Given the description of an element on the screen output the (x, y) to click on. 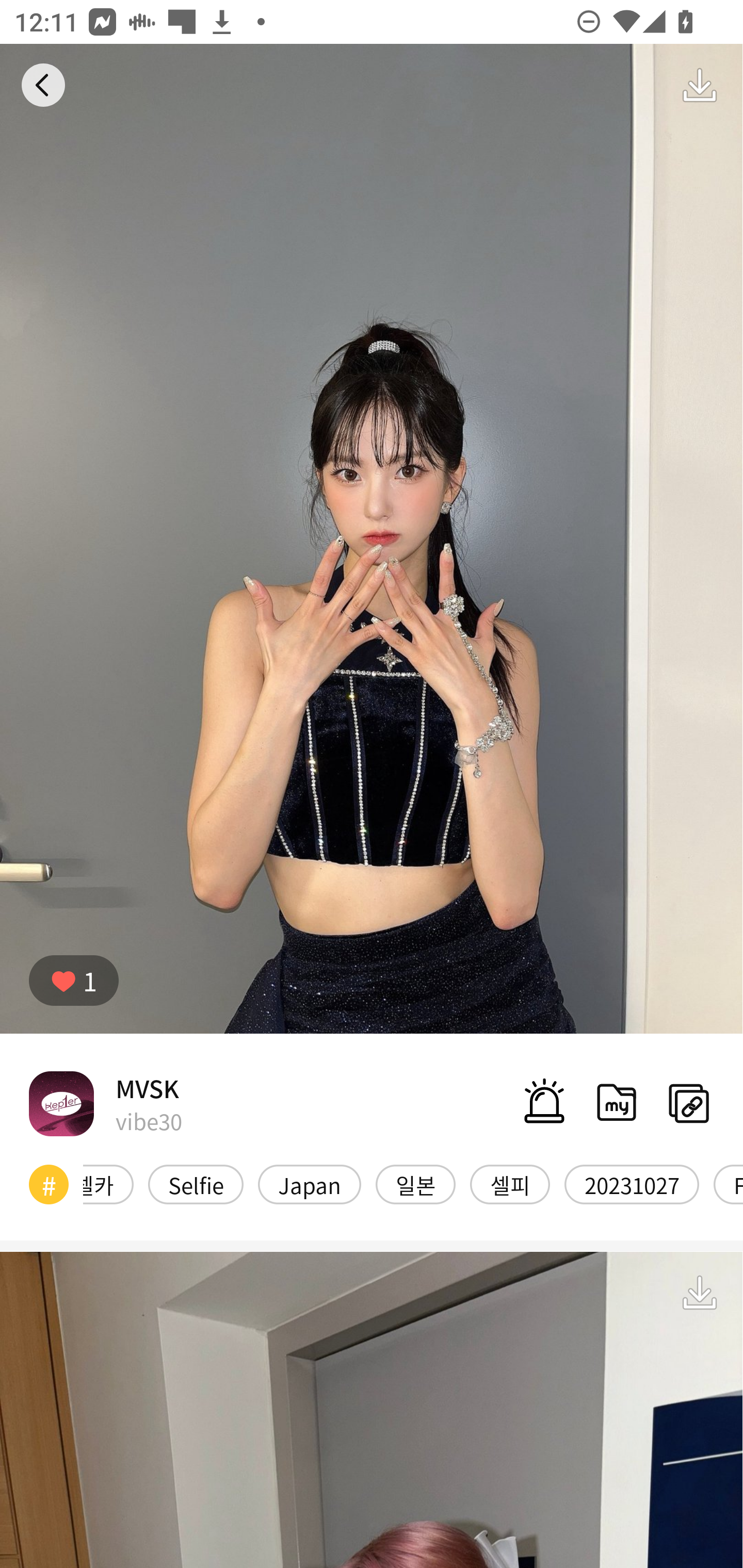
1 (73, 980)
MVSK vibe30 (105, 1102)
Selfie (195, 1184)
Japan (309, 1184)
일본 (415, 1184)
셀피 (509, 1184)
20231027 (631, 1184)
